Given the description of an element on the screen output the (x, y) to click on. 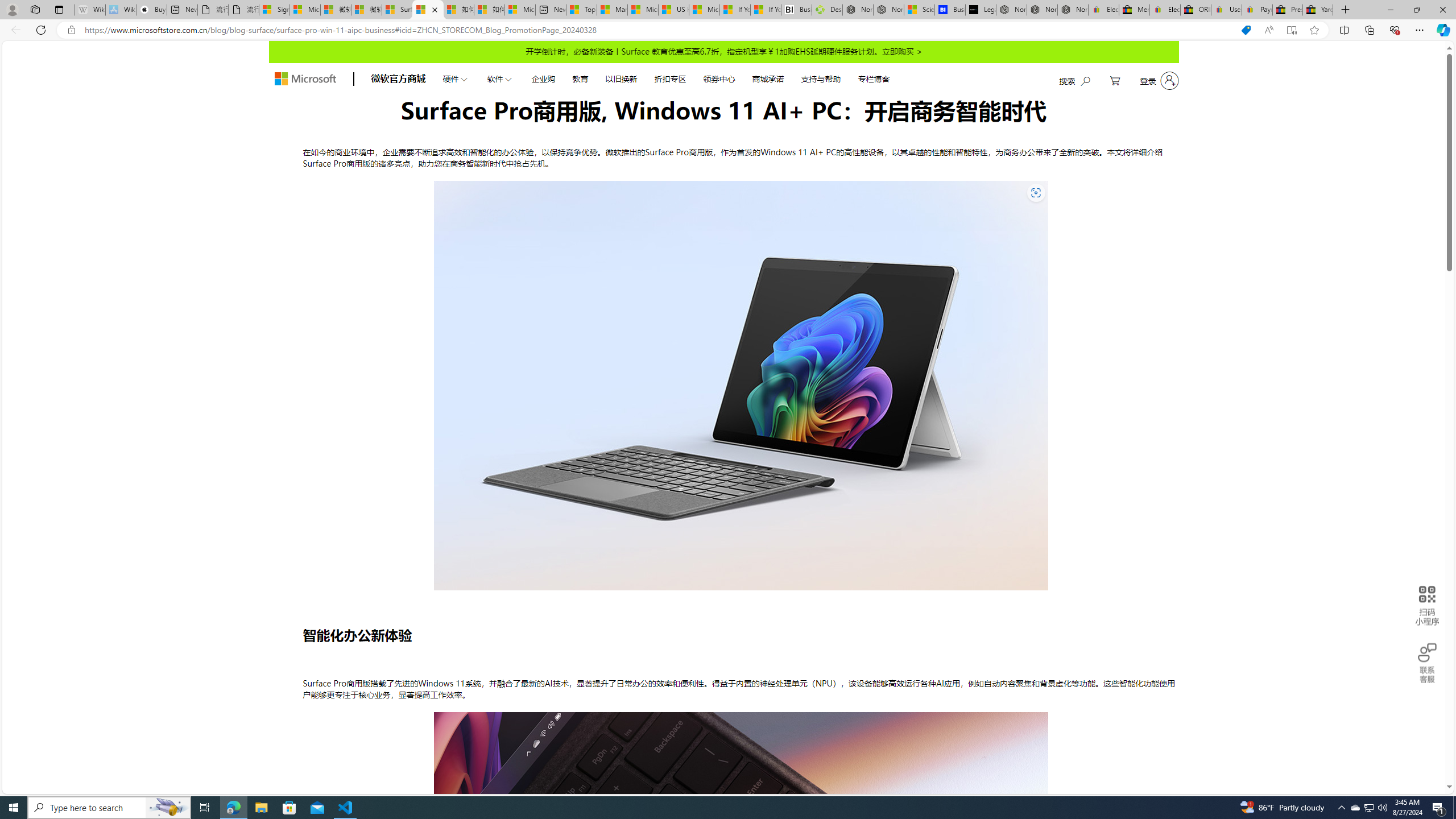
Press Room - eBay Inc. (1287, 9)
US Heat Deaths Soared To Record High Last Year (673, 9)
Payments Terms of Use | eBay.com (1256, 9)
